Given the description of an element on the screen output the (x, y) to click on. 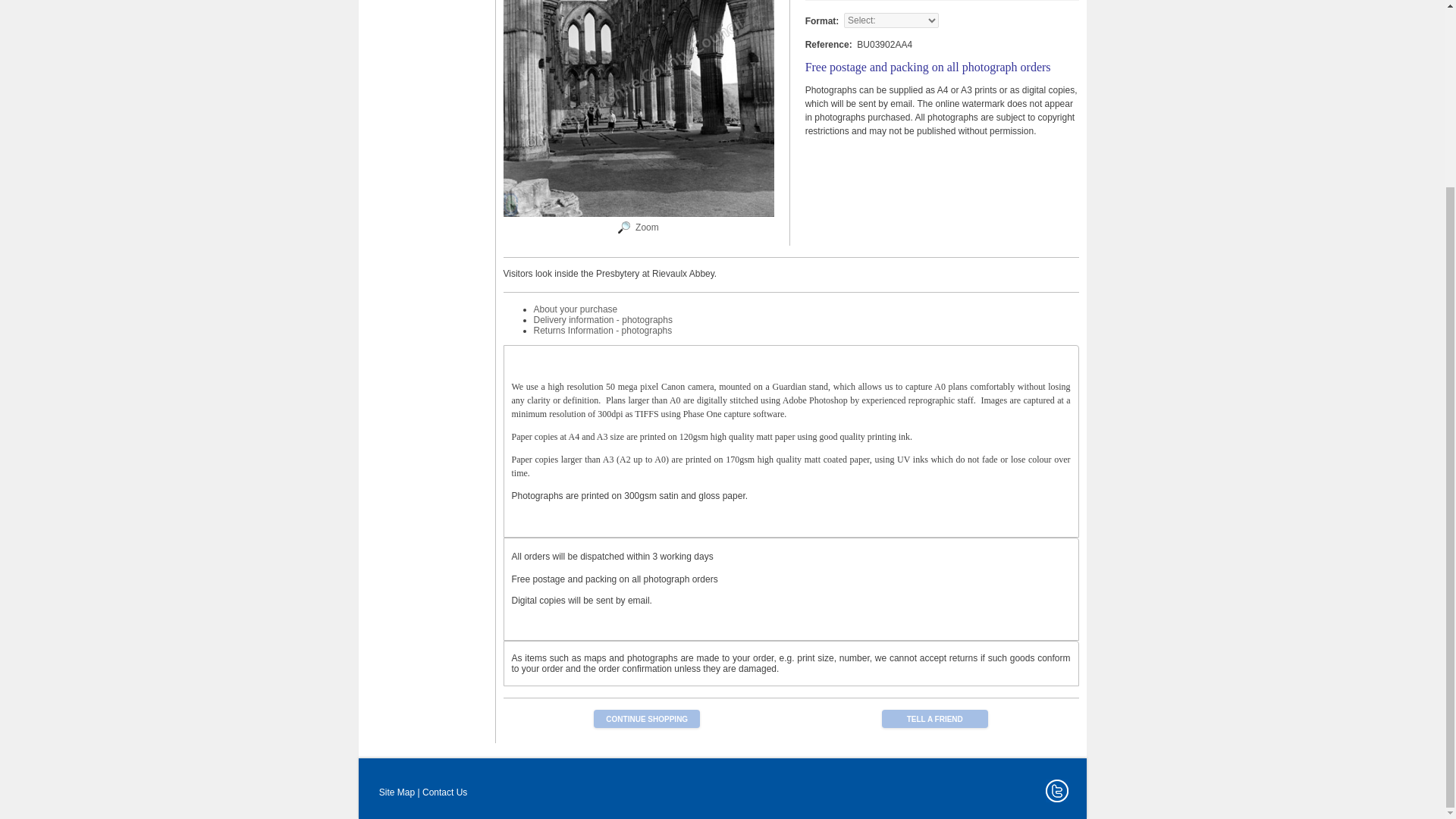
Site Map (396, 792)
Delivery information - photographs (603, 319)
Zoom (638, 108)
Returns Information - photographs (603, 330)
TELL A FRIEND (935, 719)
Contact Us (444, 792)
CONTINUE SHOPPING (647, 719)
Rievaulx Abbey (623, 230)
About your purchase (575, 308)
Rievaulx Abbey (638, 213)
Zoom (646, 226)
Rievaulx Abbey (646, 226)
